Given the description of an element on the screen output the (x, y) to click on. 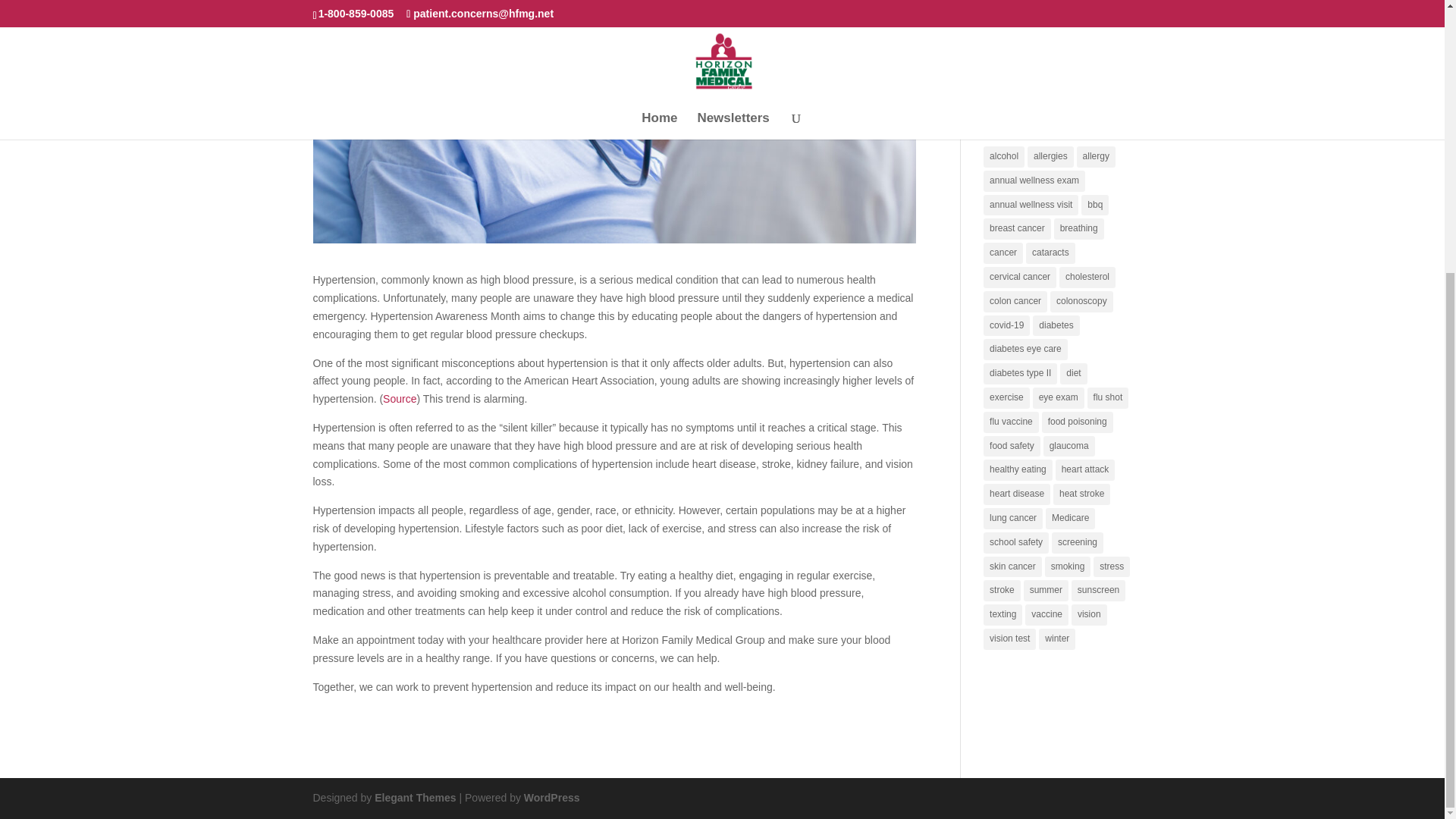
food poisoning (1077, 422)
covid-19 (1006, 325)
2016 February (1018, 69)
colon cancer (1015, 301)
cholesterol (1087, 277)
allergies (1050, 156)
Premium WordPress Themes (414, 797)
Source (399, 398)
breathing (1078, 228)
flu shot (1108, 397)
